Given the description of an element on the screen output the (x, y) to click on. 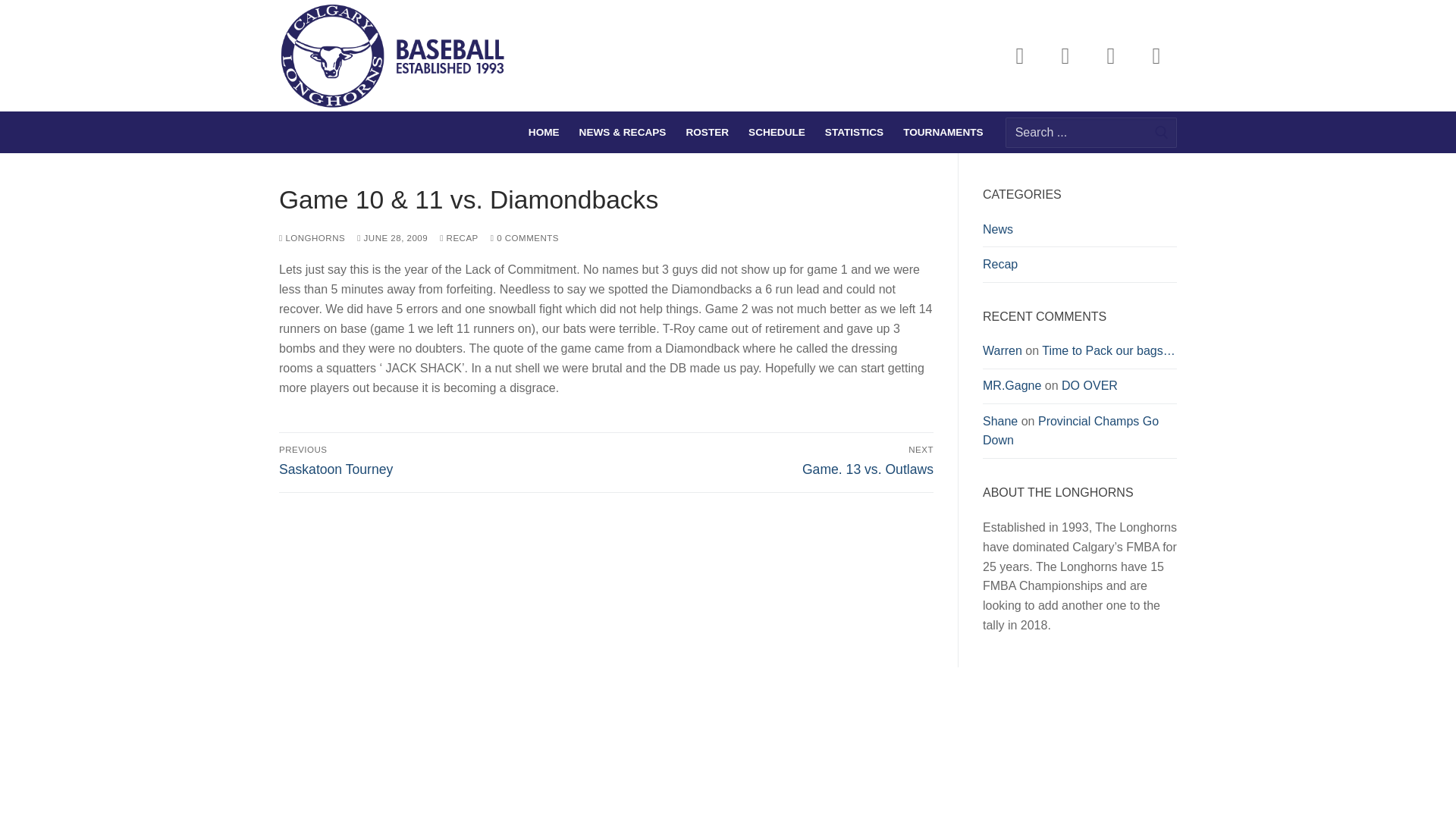
Twitter (1065, 56)
DO OVER (1089, 385)
Recap (1079, 267)
SCHEDULE (776, 132)
MR.Gagne (772, 460)
RECAP (1011, 385)
Facebook (459, 237)
JUNE 28, 2009 (1019, 56)
0 COMMENTS (439, 460)
Provincial Champs Go Down (392, 237)
Instagram (524, 237)
STATISTICS (1070, 430)
HOME (1110, 56)
